Given the description of an element on the screen output the (x, y) to click on. 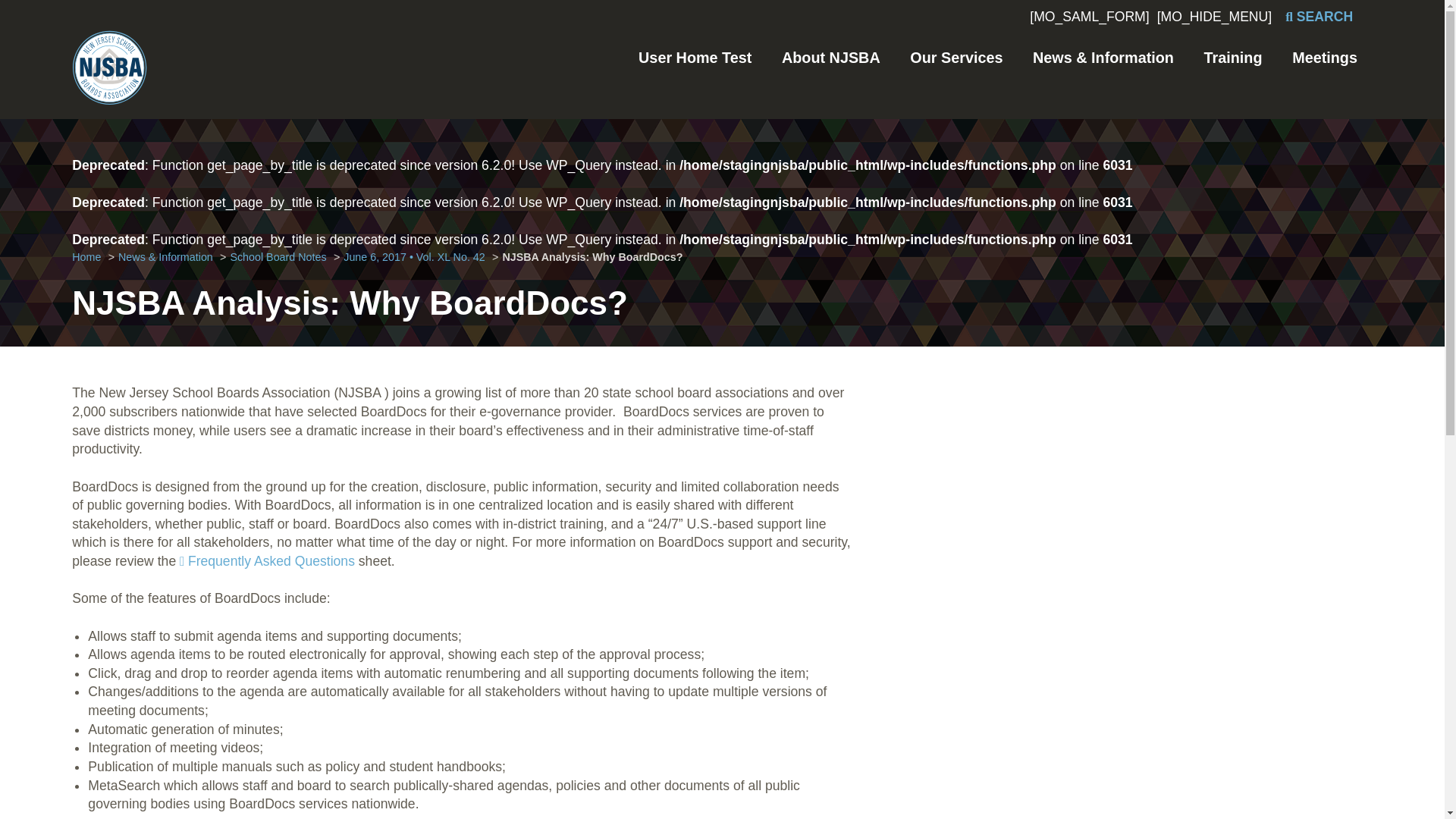
Our Services (956, 57)
SEARCH (1318, 17)
About NJSBA (831, 57)
User Home Test (695, 57)
